Given the description of an element on the screen output the (x, y) to click on. 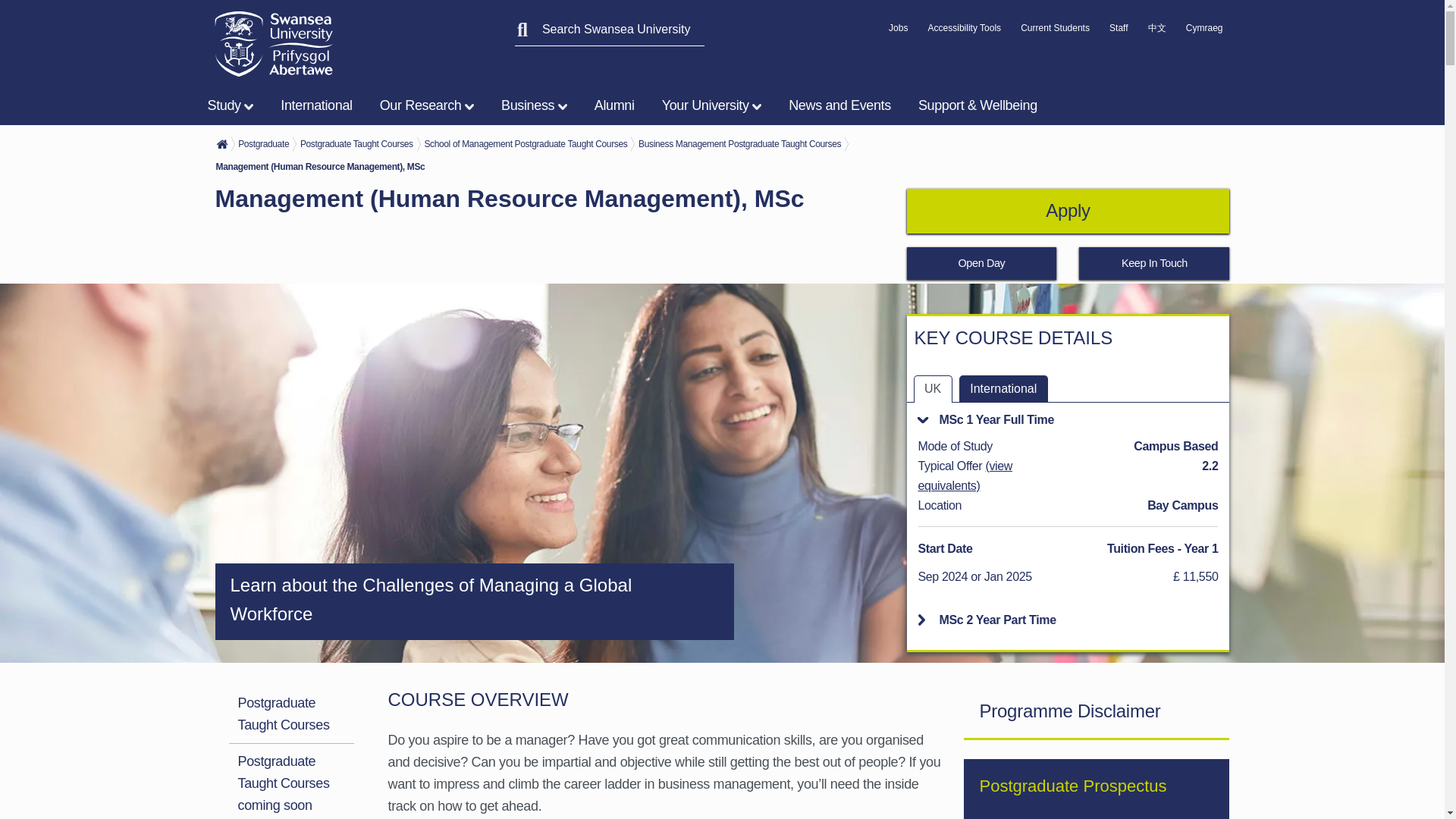
Current Students (1054, 31)
Jobs (897, 31)
Jobs at Swansea University (897, 31)
Accessibility Tools (964, 31)
Study (234, 105)
Staff (1117, 31)
Cymraeg (1204, 31)
Accessibility Tools (964, 31)
